Given the description of an element on the screen output the (x, y) to click on. 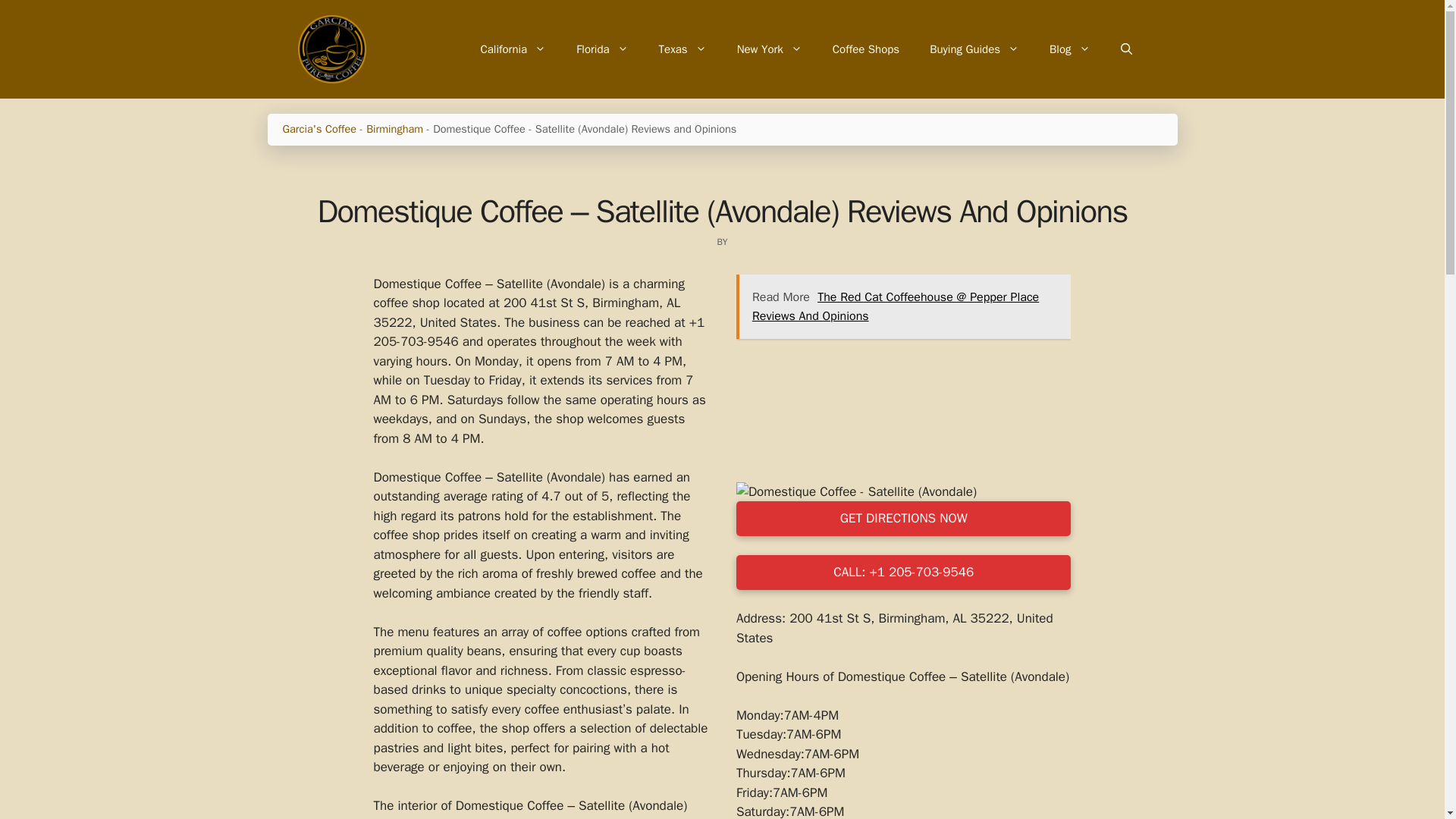
New York (769, 49)
Blog (1069, 49)
Coffee Shops (865, 49)
Buying Guides (973, 49)
Florida (601, 49)
California (512, 49)
Texas (682, 49)
